Given the description of an element on the screen output the (x, y) to click on. 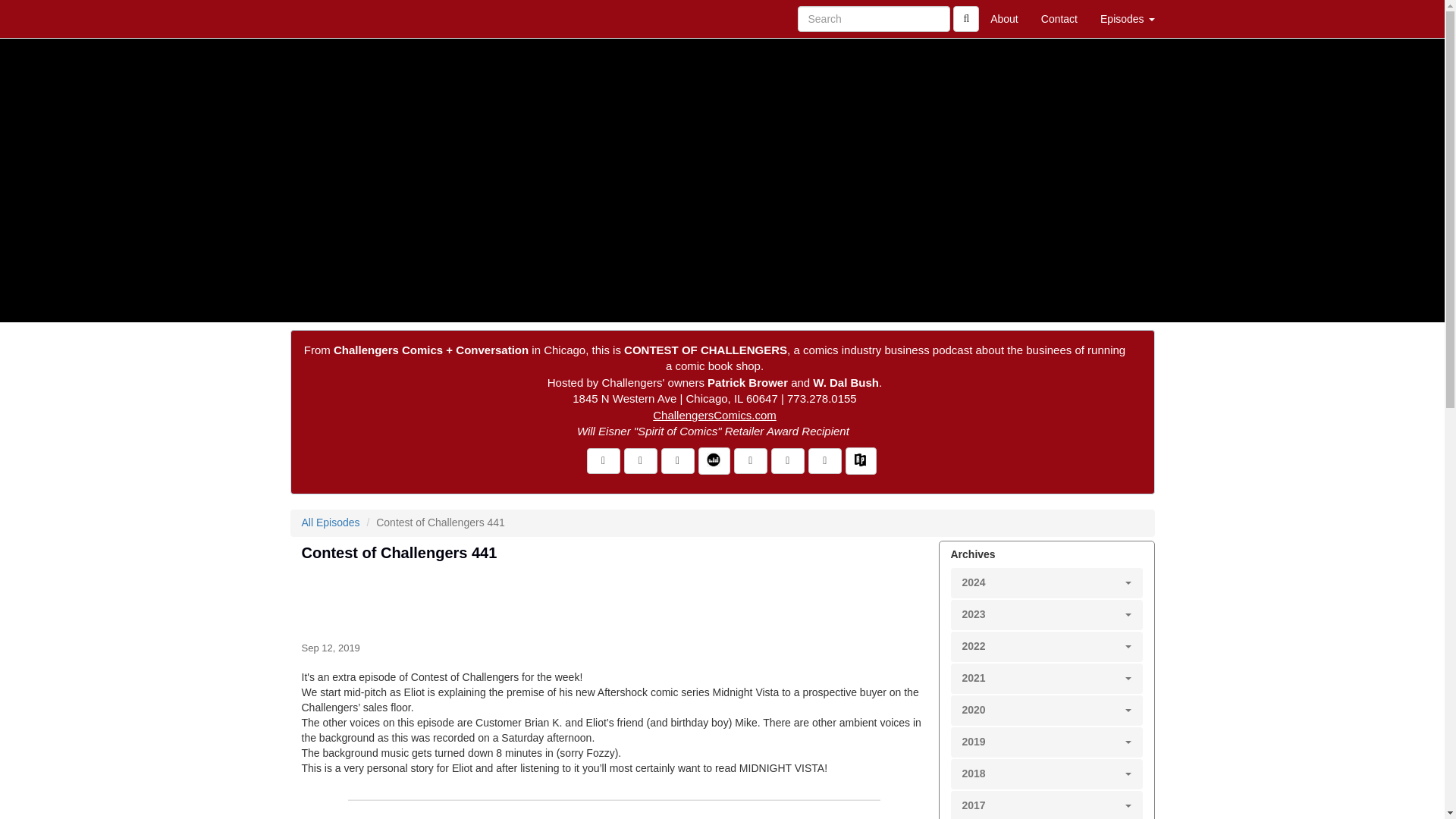
Episodes (1127, 18)
Contest of Challengers 441 (614, 599)
About (1003, 18)
Contact (1059, 18)
Home Page (320, 18)
